Given the description of an element on the screen output the (x, y) to click on. 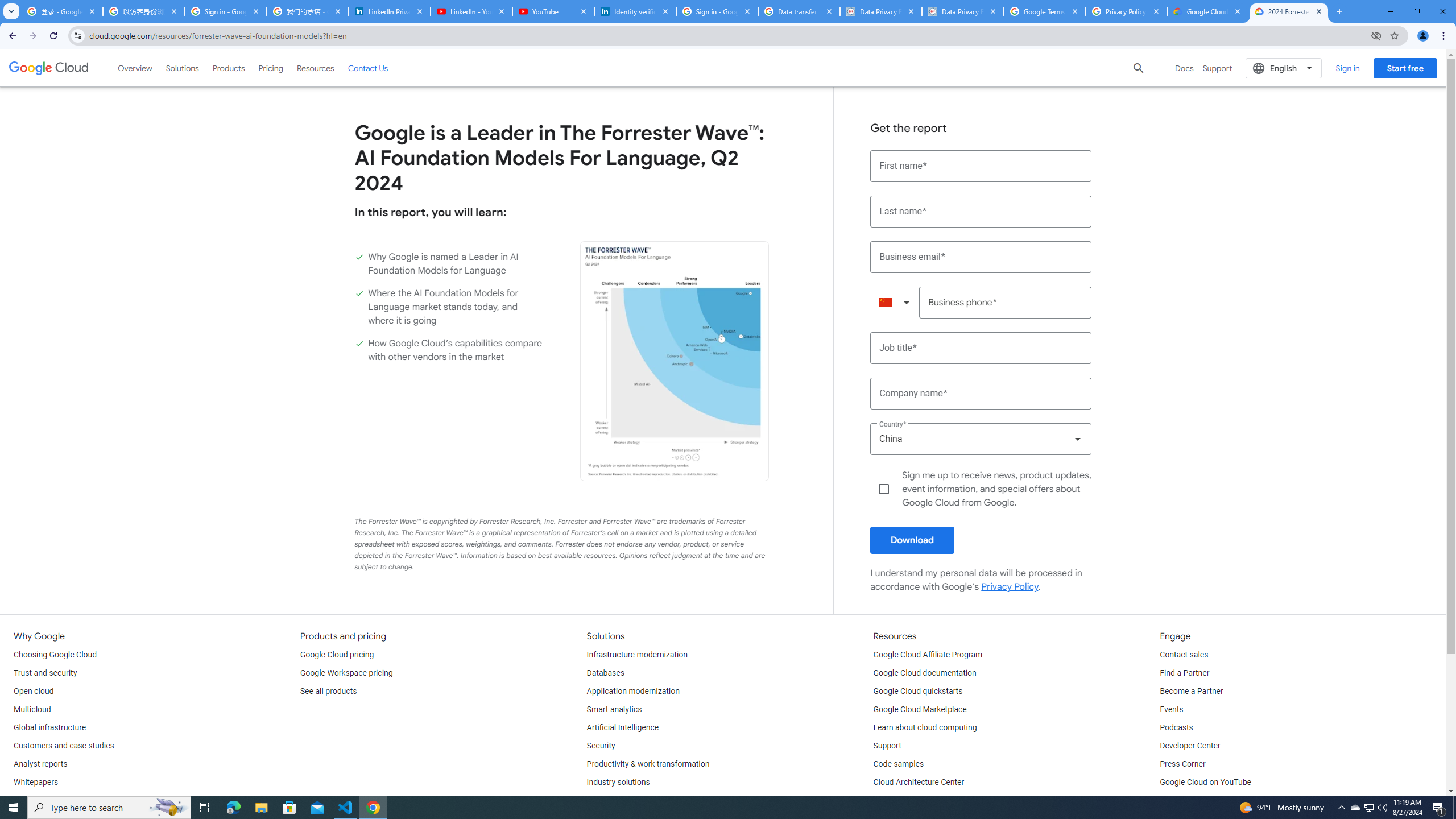
Training (887, 800)
Trust and security (45, 673)
Find a Partner (1183, 673)
Learn about cloud computing (924, 728)
Products (228, 67)
Google Cloud pricing (336, 655)
Productivity & work transformation (648, 764)
Smart analytics (614, 710)
Resources (314, 67)
